Given the description of an element on the screen output the (x, y) to click on. 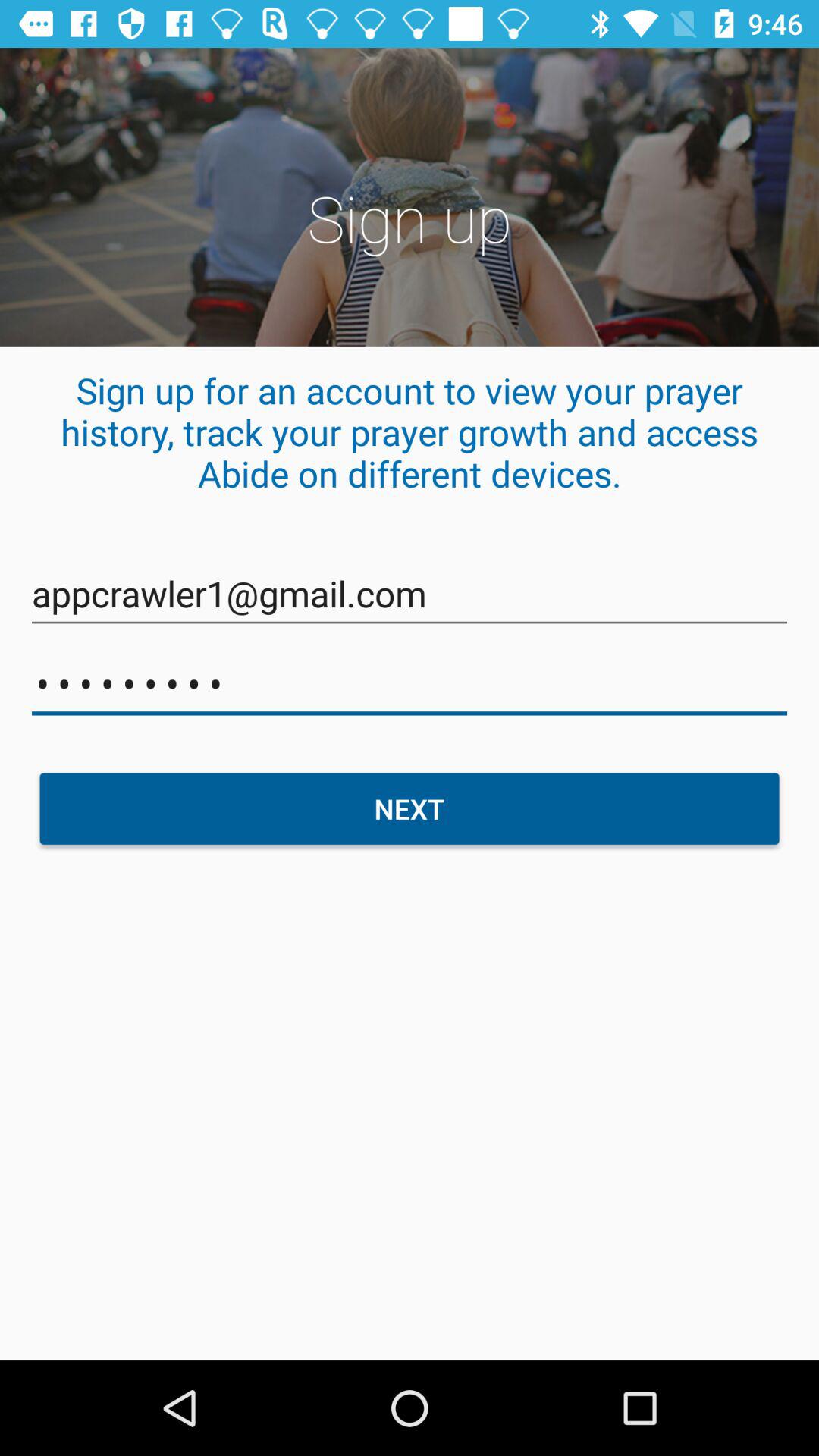
choose appcrawler1@gmail.com item (409, 594)
